Given the description of an element on the screen output the (x, y) to click on. 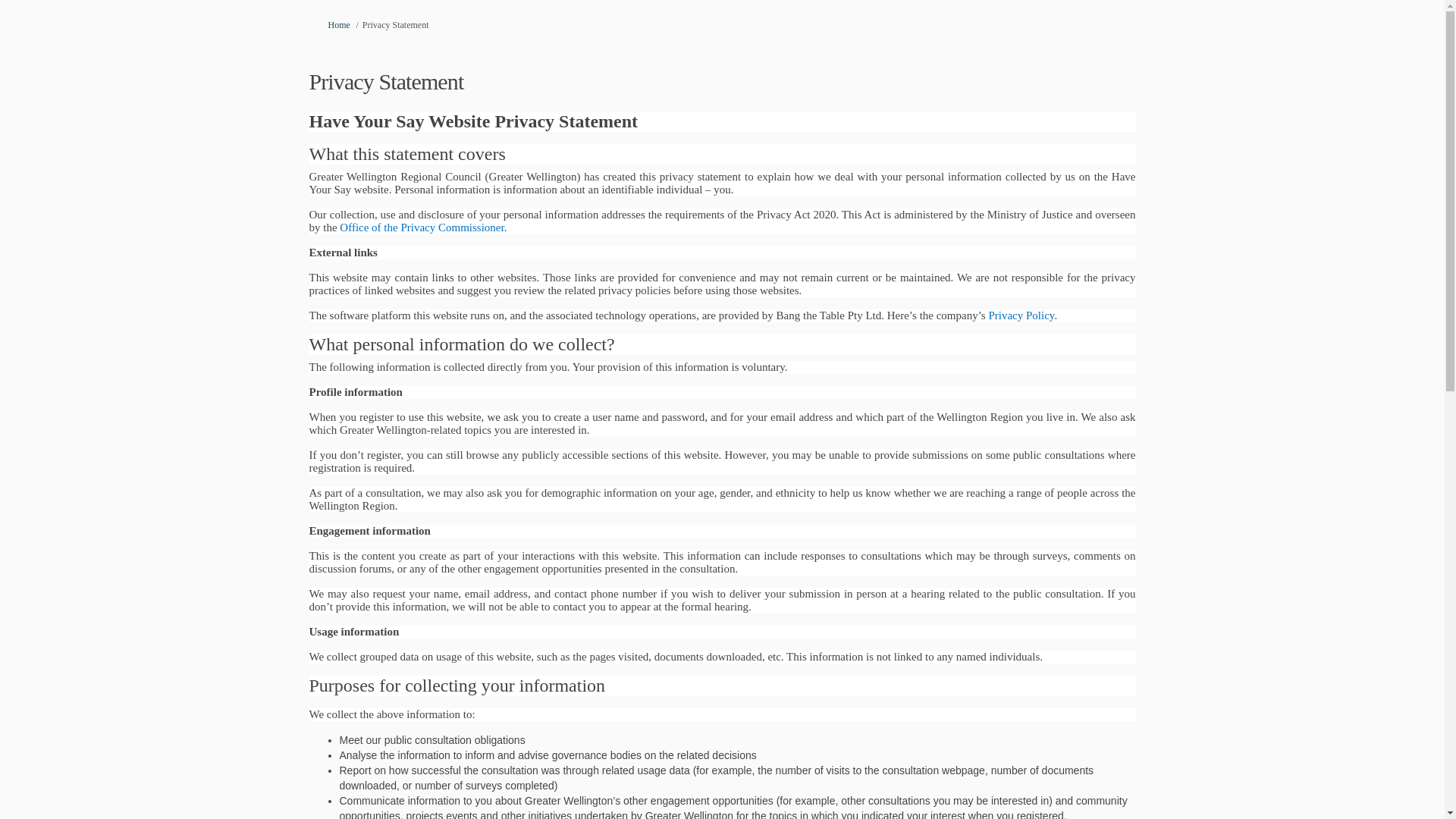
Privacy Policy (1021, 315)
Home (338, 24)
Office of the Privacy Commissioner (421, 227)
